Given the description of an element on the screen output the (x, y) to click on. 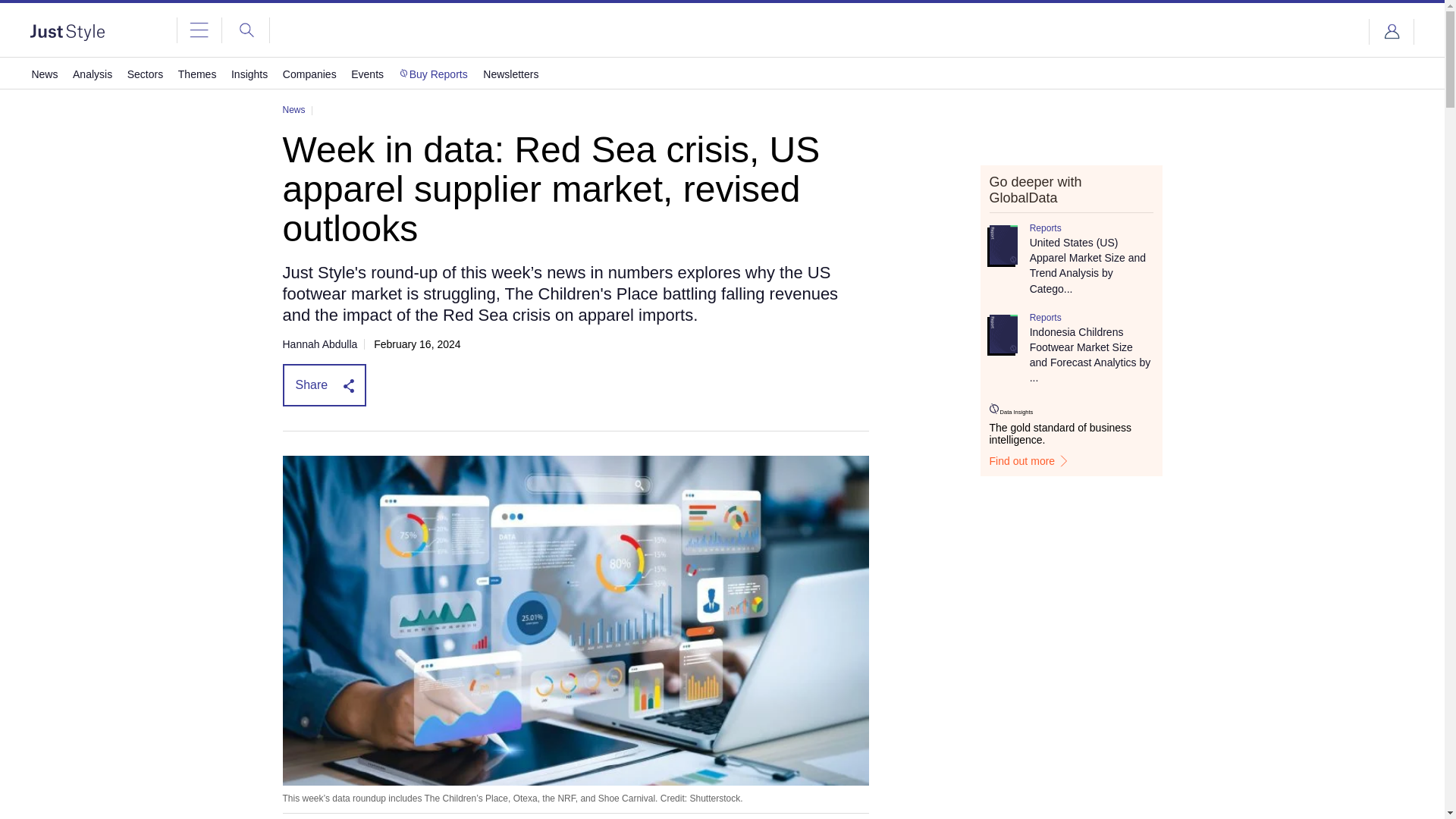
Login (1391, 31)
